Given the description of an element on the screen output the (x, y) to click on. 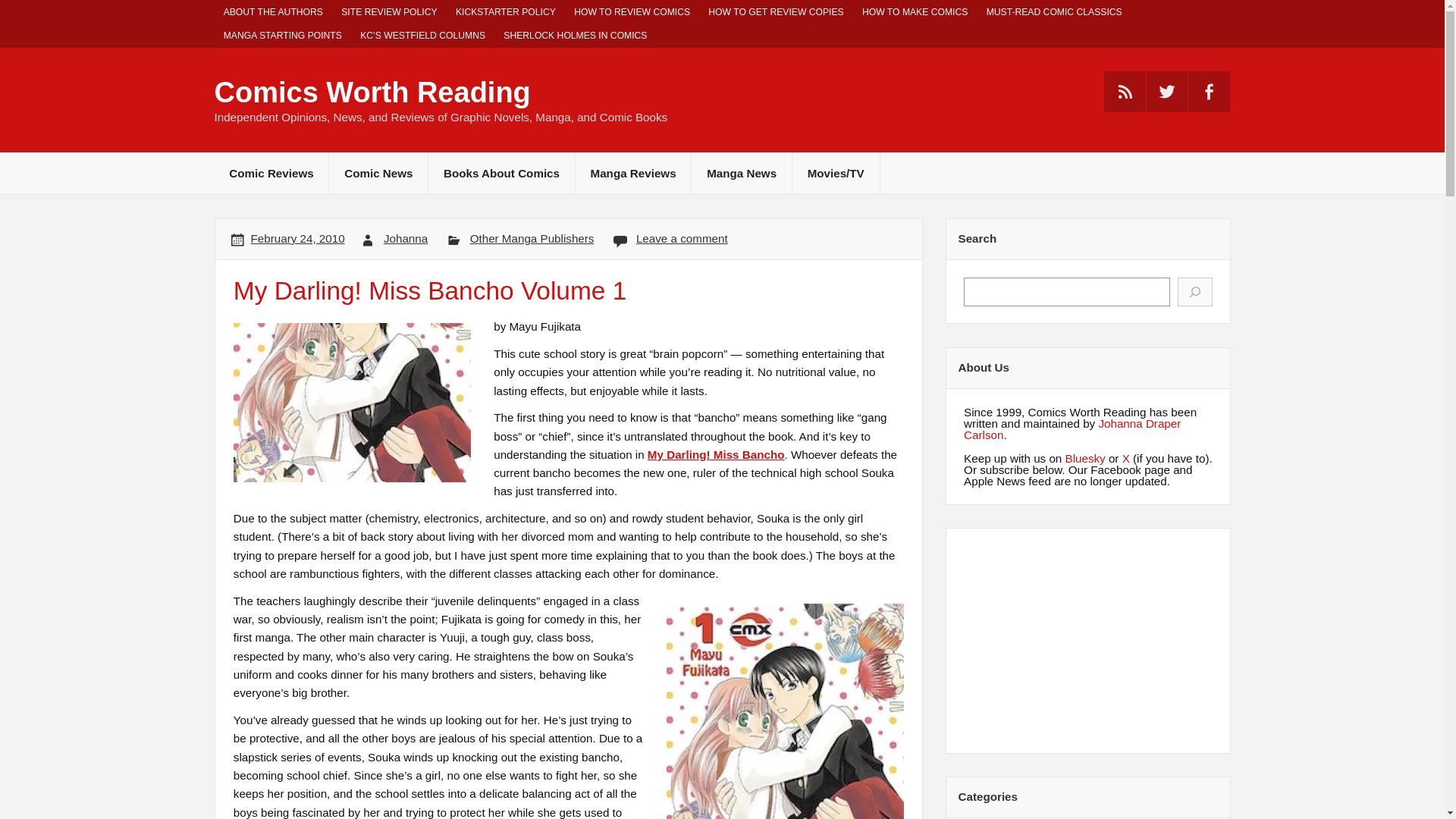
My Darling! Miss Bancho (715, 454)
Other Manga Publishers (532, 237)
February 24, 2010 (297, 237)
SHERLOCK HOLMES IN COMICS (575, 36)
MANGA STARTING POINTS (282, 36)
Manga News (741, 173)
View all posts by Johanna (406, 237)
8:05 pm (297, 237)
HOW TO REVIEW COMICS (631, 12)
MUST-READ COMIC CLASSICS (1053, 12)
ABOUT THE AUTHORS (272, 12)
Johanna (406, 237)
Comic News (378, 173)
Comic Reviews (271, 173)
Books About Comics (501, 173)
